Given the description of an element on the screen output the (x, y) to click on. 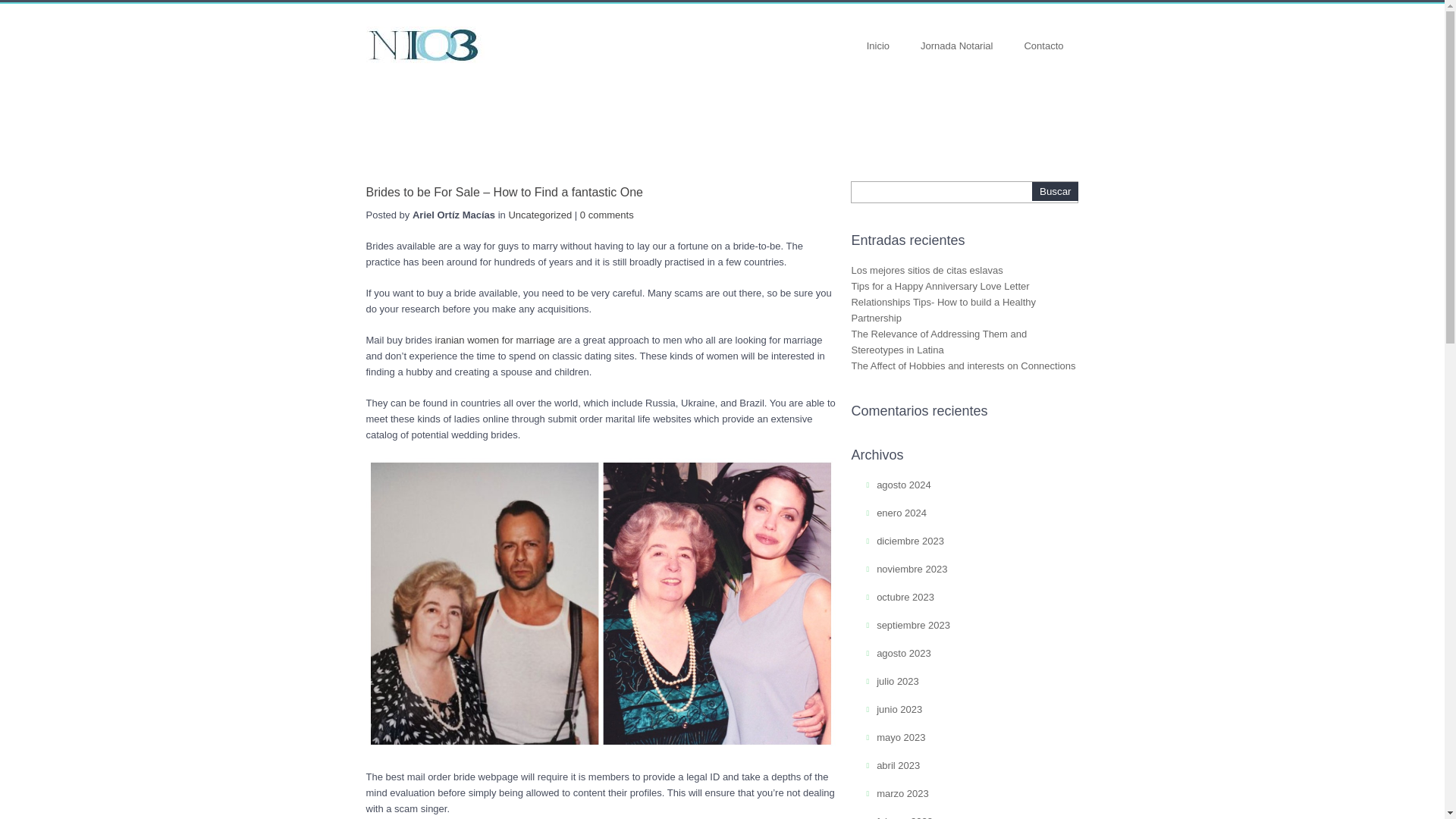
octubre 2023 (905, 596)
junio 2023 (898, 708)
septiembre 2023 (913, 624)
Los mejores sitios de citas eslavas (926, 270)
Uncategorized (540, 214)
Buscar (1055, 190)
febrero 2023 (904, 817)
diciembre 2023 (909, 541)
agosto 2024 (903, 484)
abril 2023 (898, 765)
